Given the description of an element on the screen output the (x, y) to click on. 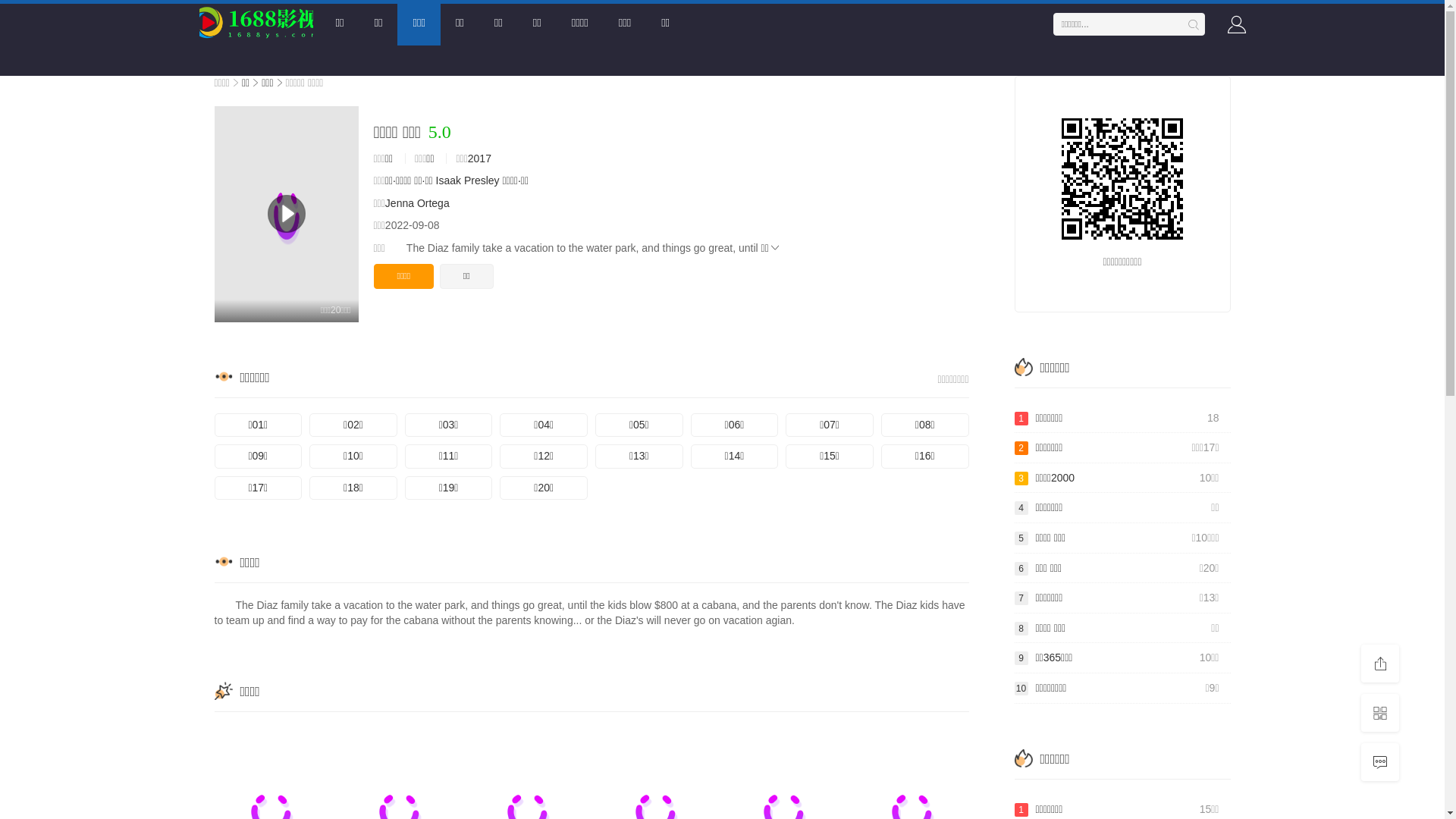
Ortega Element type: text (433, 203)
Jenna Element type: text (399, 203)
http://www.1688ys.com/voddetail/181049.html Element type: hover (1121, 178)
2017 Element type: text (479, 158)
Presley Element type: text (481, 180)
Isaak Element type: text (448, 180)
